Given the description of an element on the screen output the (x, y) to click on. 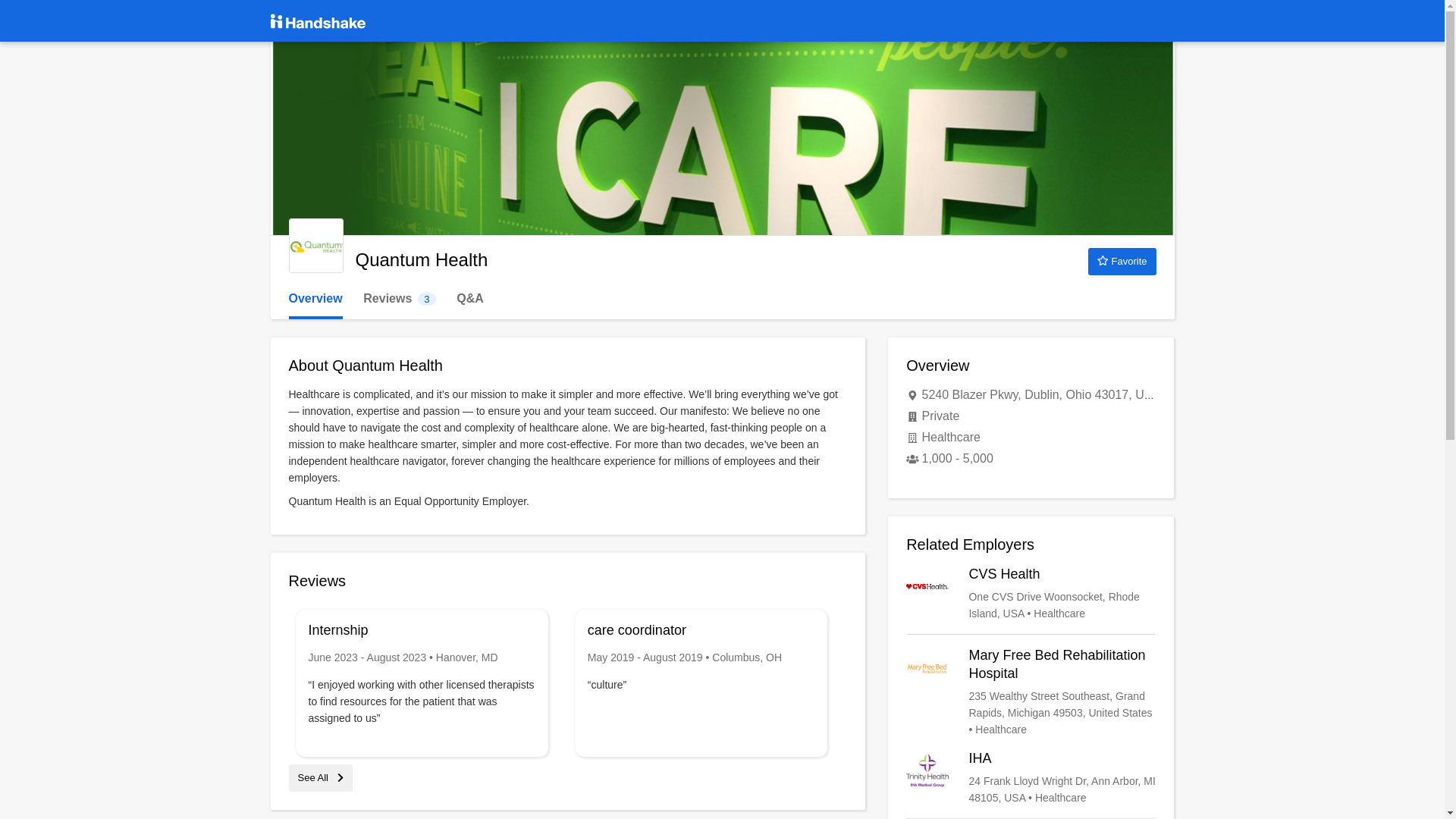
Favorite (1121, 261)
IHA (1030, 777)
Mary Free Bed Rehabilitation Hospital (1030, 692)
CVS Health (1030, 593)
See All (320, 777)
Overview (315, 298)
Quantum Health (398, 298)
